Given the description of an element on the screen output the (x, y) to click on. 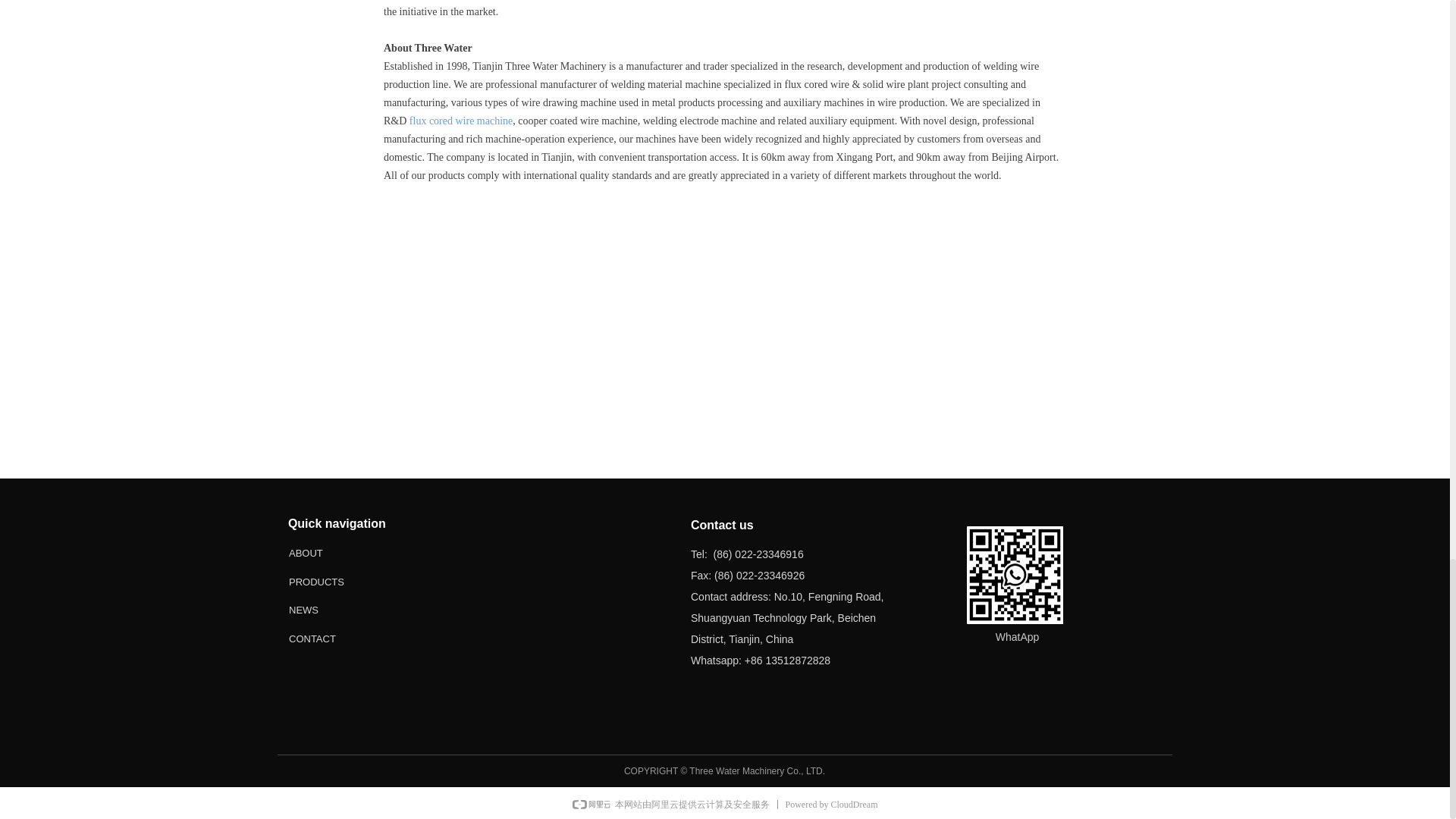
NEWS (337, 610)
flux cored wire machine (460, 120)
PRODUCTS (337, 582)
ABOUT (337, 552)
flux cored wire machine (460, 120)
Powered by CloudDream (831, 804)
CONTACT (337, 637)
